Given the description of an element on the screen output the (x, y) to click on. 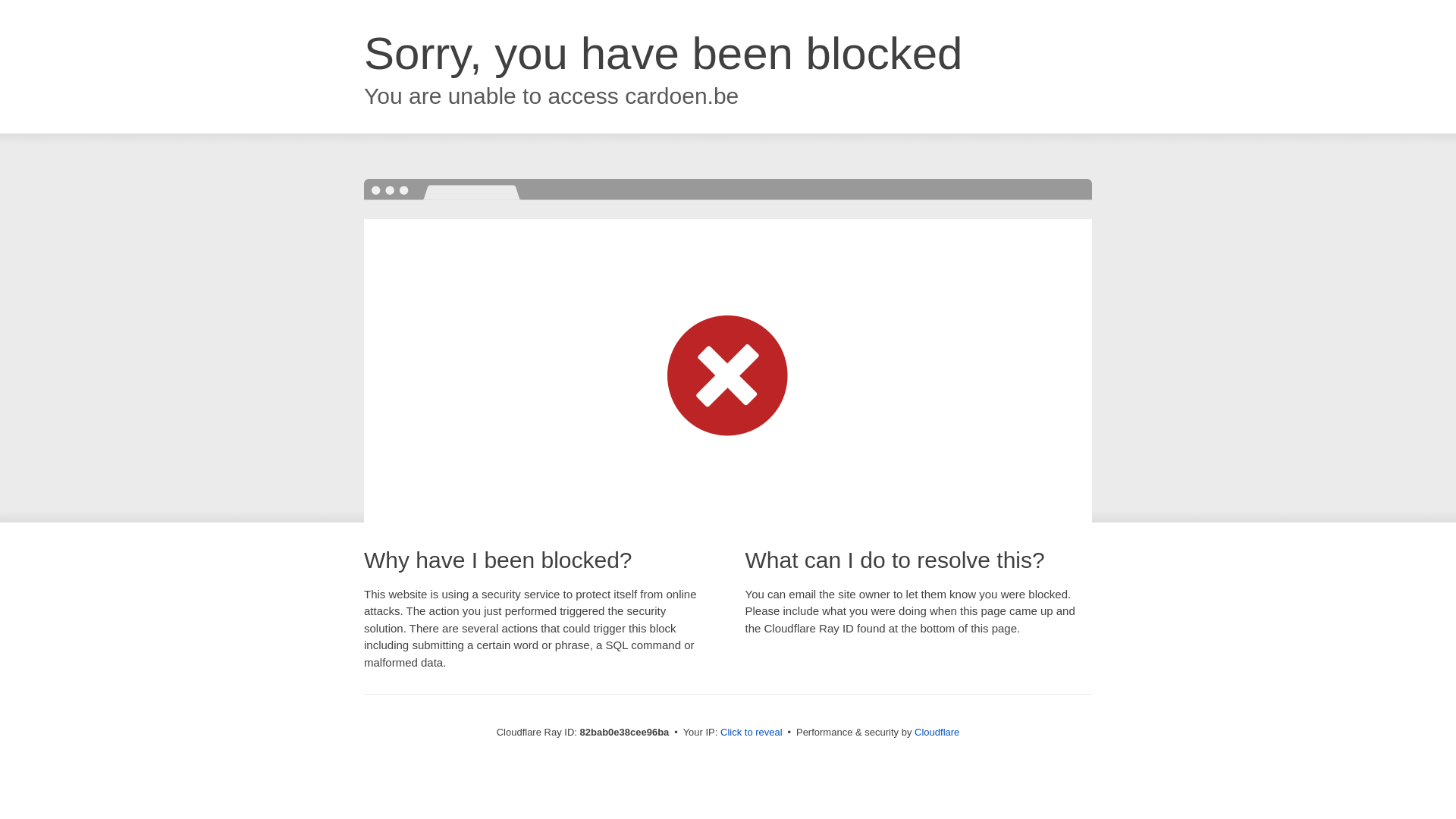
Cloudflare Element type: text (936, 731)
Click to reveal Element type: text (751, 732)
